Given the description of an element on the screen output the (x, y) to click on. 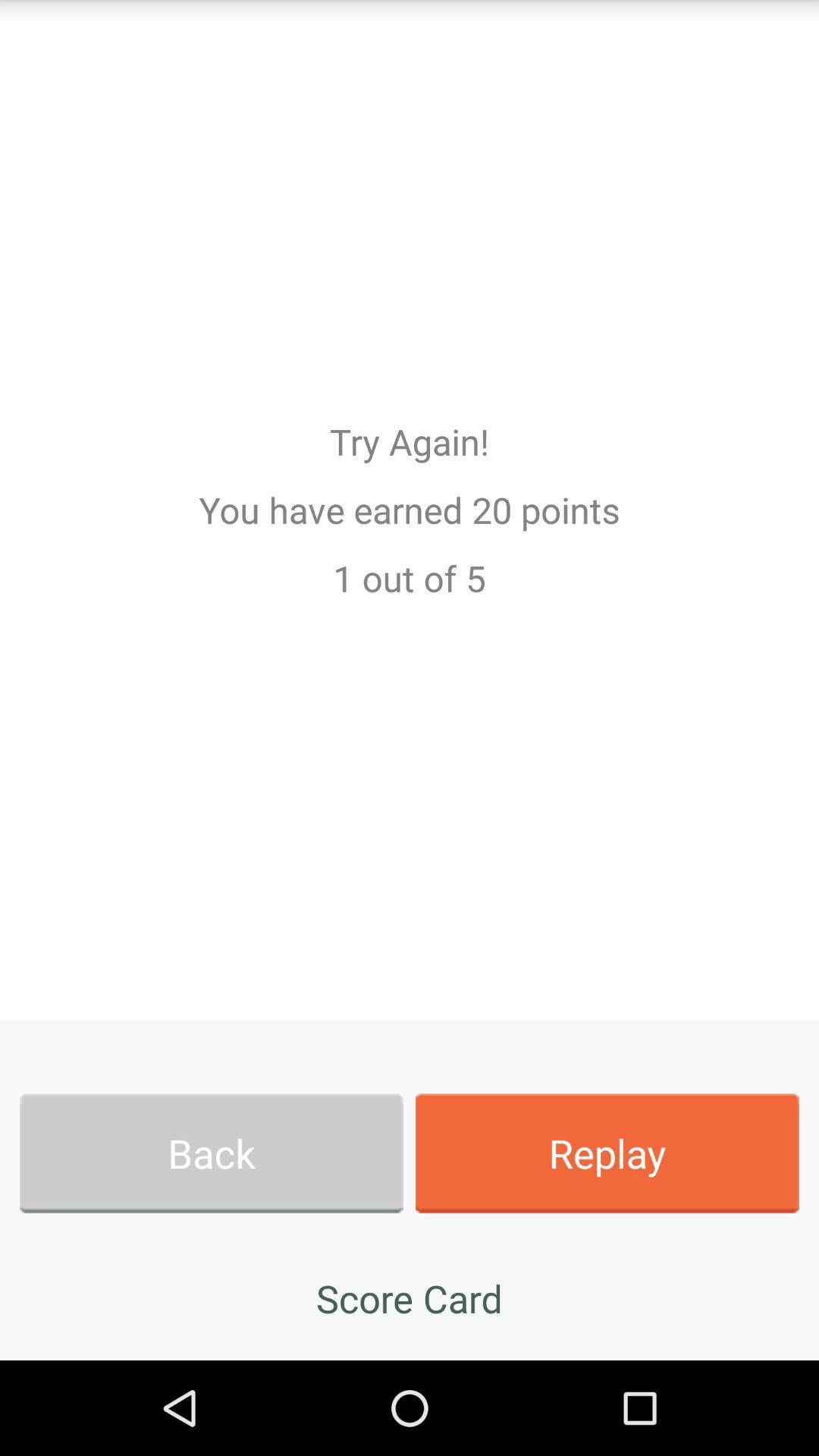
press item to the right of back (607, 1153)
